Given the description of an element on the screen output the (x, y) to click on. 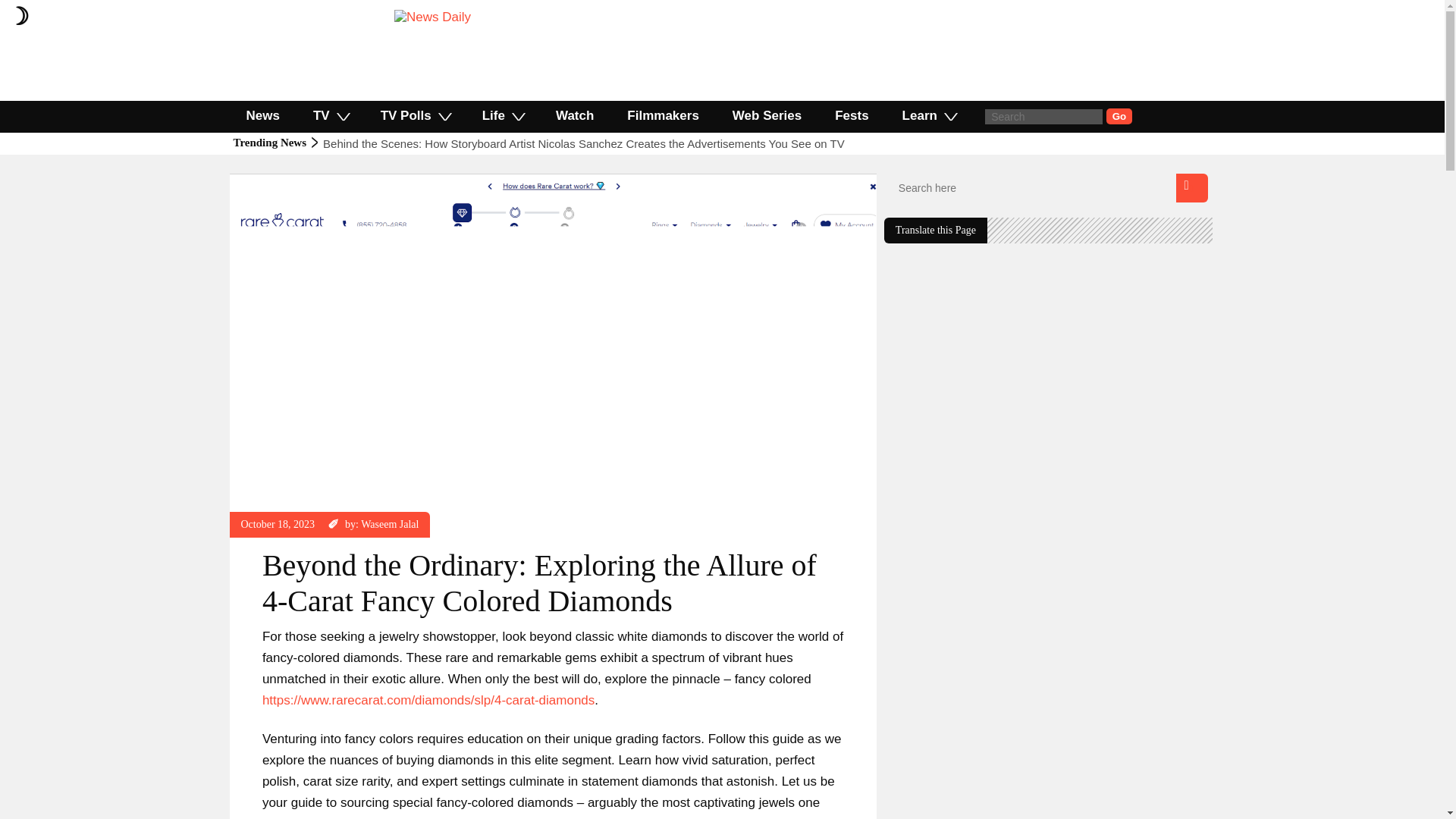
Fests (851, 115)
Learn (928, 115)
Watch (574, 115)
Go (1119, 116)
Lifestyle (259, 180)
Filmmakers (663, 115)
TV Polls (414, 115)
October 18, 2023 (278, 523)
Web Series (767, 115)
TV (330, 115)
